Given the description of an element on the screen output the (x, y) to click on. 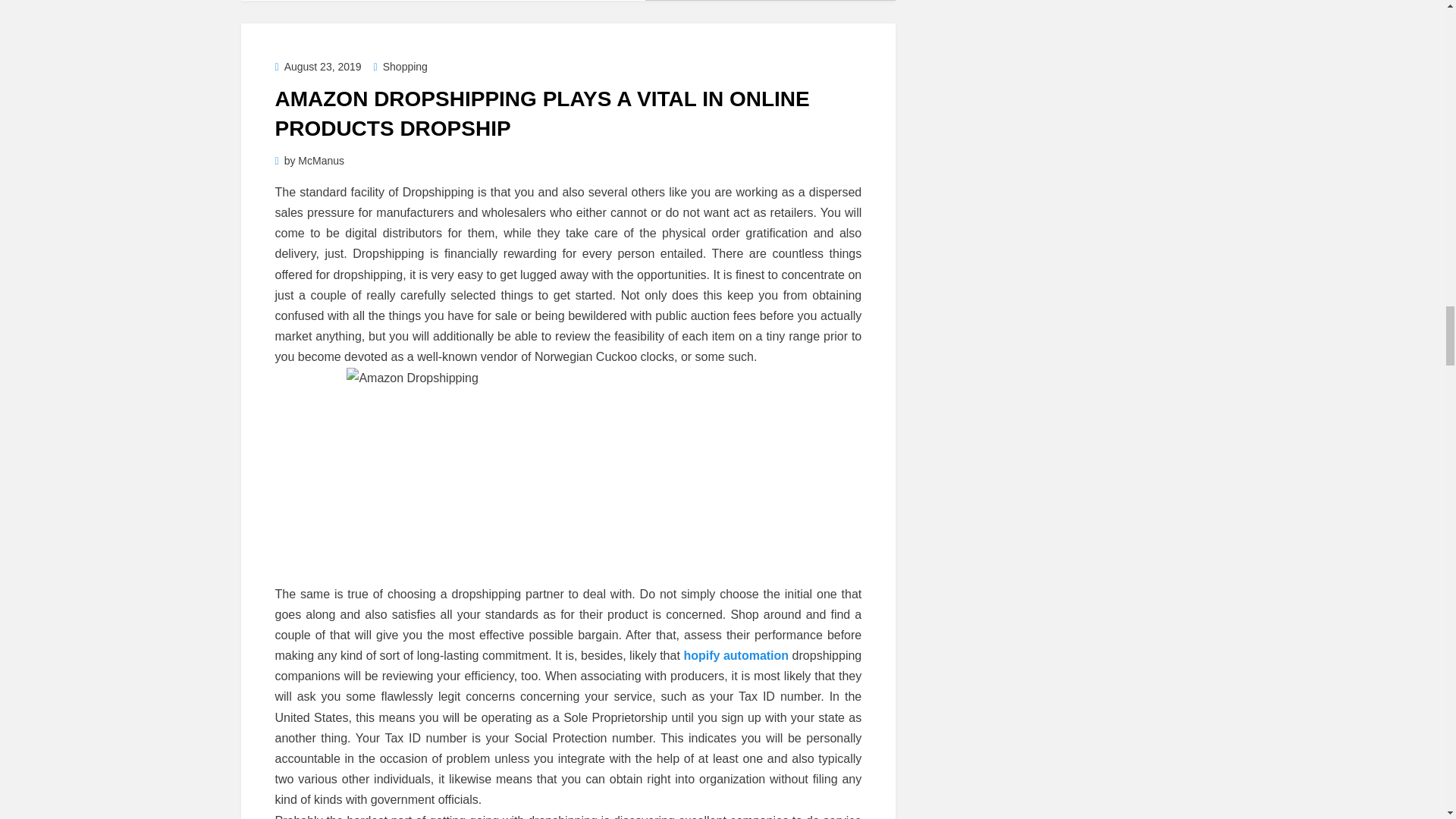
August 23, 2019 (318, 66)
McManus (320, 160)
Shopping (401, 66)
hopify automation (735, 655)
Shopping (401, 66)
